Given the description of an element on the screen output the (x, y) to click on. 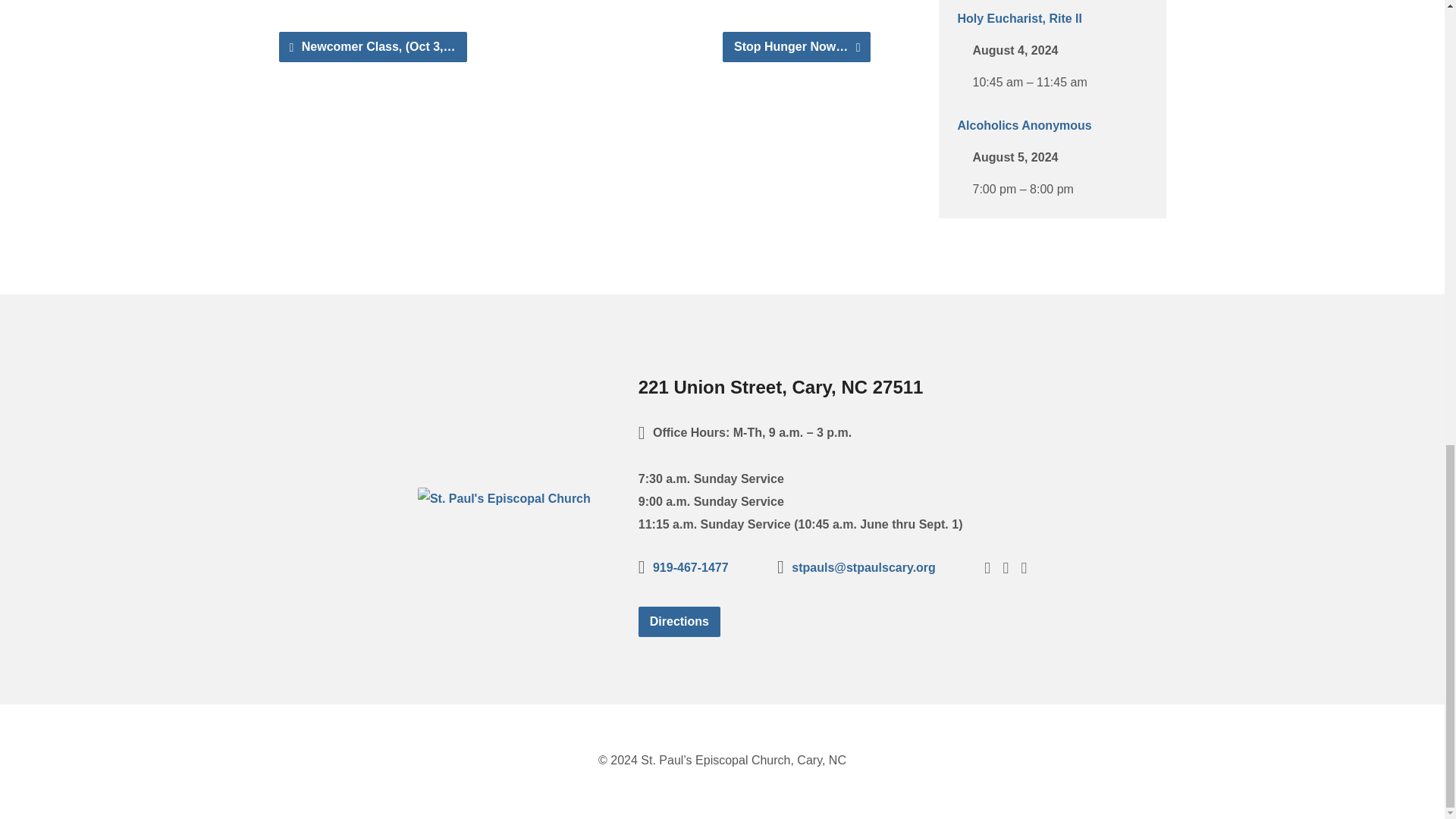
Online Sunday Worship (1024, 19)
Holy Eucharist, Rite II (1018, 125)
